Given the description of an element on the screen output the (x, y) to click on. 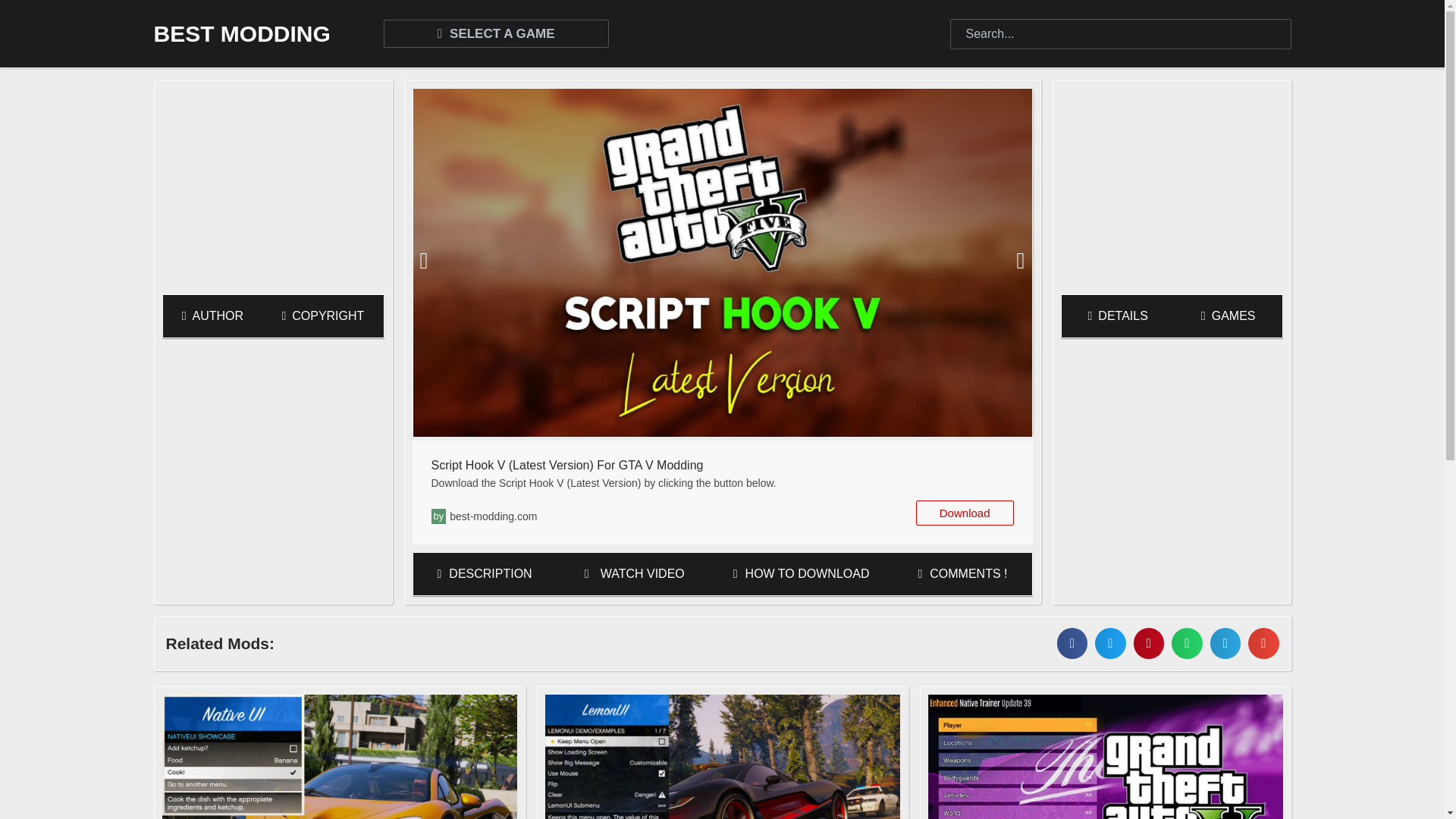
SELECT A GAME (496, 33)
Download (964, 512)
BEST MODDING (241, 33)
